Given the description of an element on the screen output the (x, y) to click on. 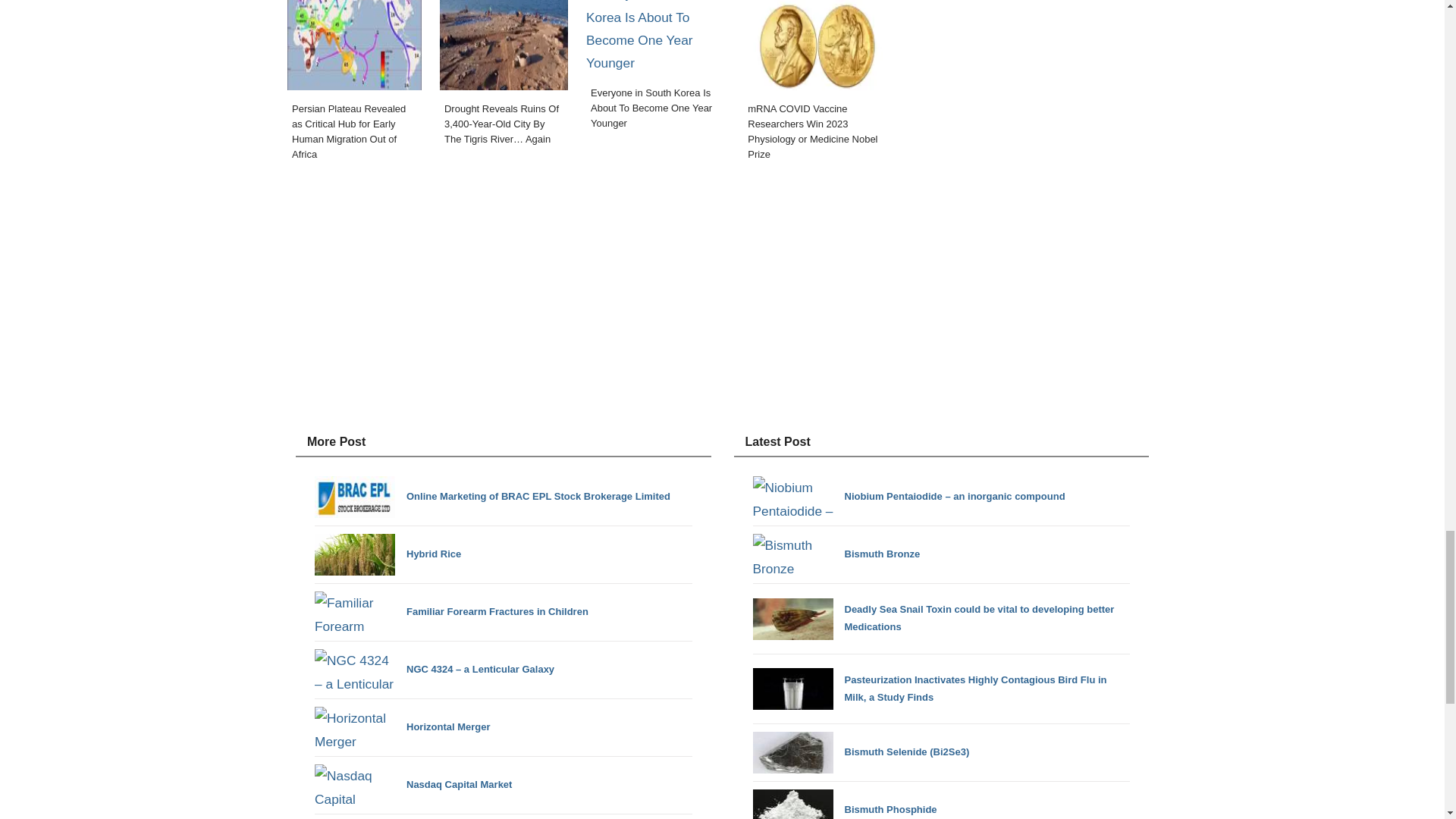
Online Marketing of BRAC EPL Stock Brokerage Limited (491, 496)
Horizontal Merger (402, 727)
Hybrid Rice (387, 554)
Bismuth Phosphide (844, 804)
Bismuth Bronze (836, 554)
Familiar Forearm Fractures in Children (451, 612)
Nasdaq Capital Market (413, 784)
